Given the description of an element on the screen output the (x, y) to click on. 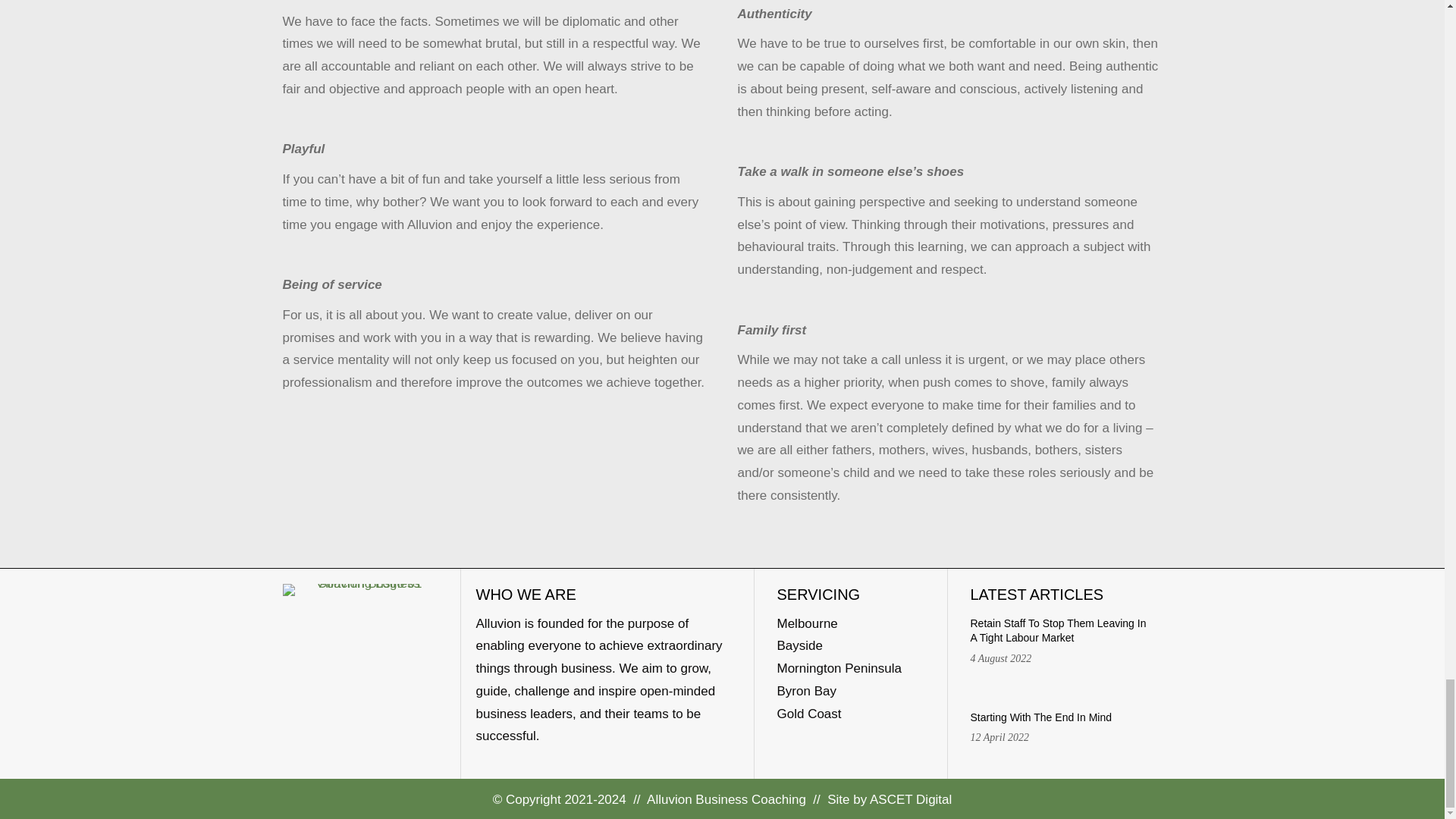
ASCET Digital (910, 799)
Retain staff to stop them leaving in a tight labour market (1061, 652)
Starting with the end in mind (1061, 738)
Alluvion Business Coaching Logo 01 (363, 589)
